Given the description of an element on the screen output the (x, y) to click on. 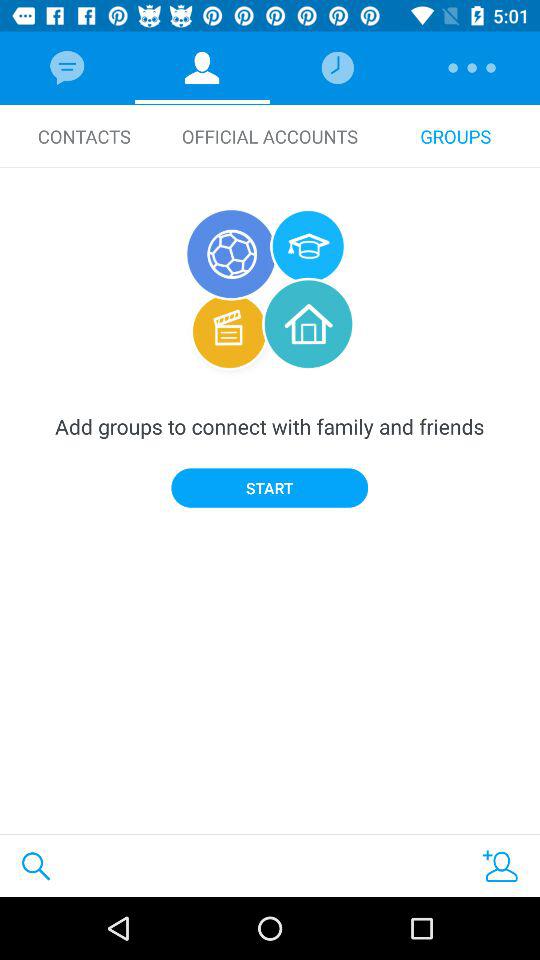
tap the icon to the right of contacts item (269, 136)
